Given the description of an element on the screen output the (x, y) to click on. 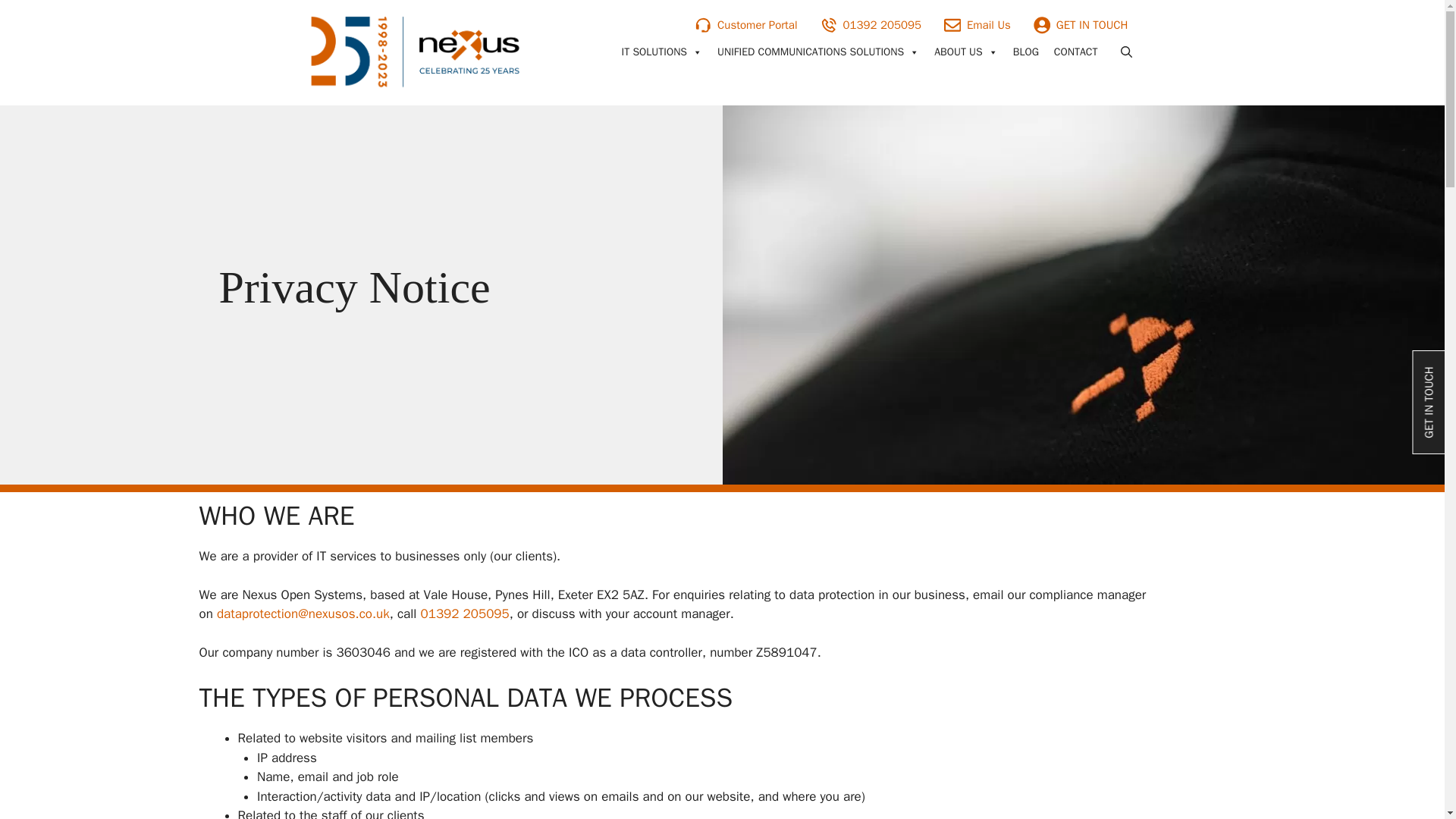
Call Nexus (869, 25)
Customer Portal (745, 25)
Email Us (977, 25)
01392 205095 (869, 25)
Email button (977, 25)
GET IN TOUCH (1081, 25)
IT SOLUTIONS (662, 52)
